Given the description of an element on the screen output the (x, y) to click on. 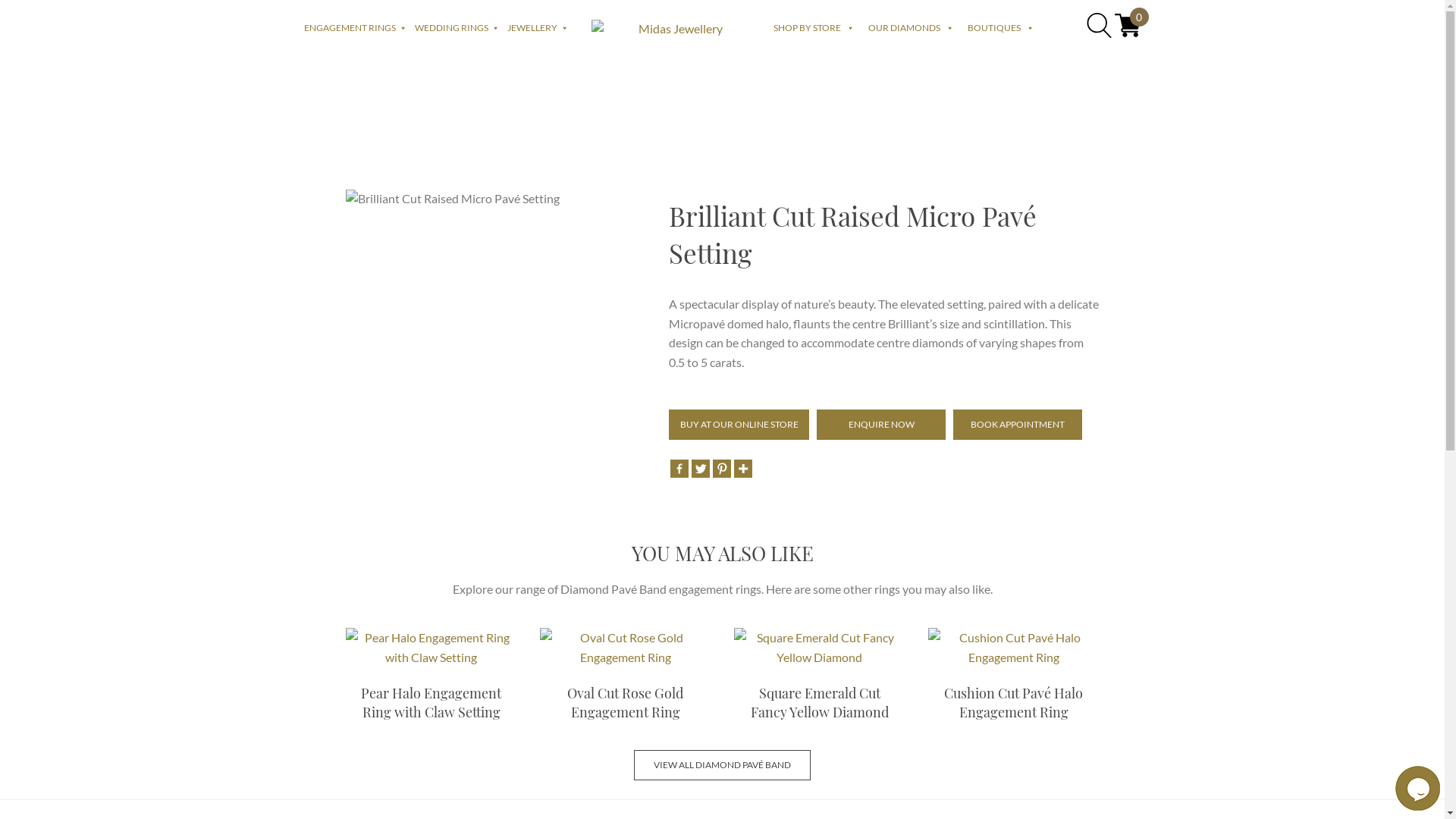
SHOP BY STORE Element type: text (820, 27)
More Element type: hover (743, 468)
Pear Halo Engagement Ring with Claw Setting Element type: hover (431, 646)
WEDDING RINGS Element type: text (460, 27)
OUR DIAMONDS Element type: text (916, 27)
Facebook Element type: hover (679, 468)
ENGAGEMENT RINGS Element type: text (358, 27)
Pinterest Element type: hover (721, 468)
Pear Halo Engagement Ring with Claw Setting Element type: text (431, 678)
Square Emerald Cut Fancy Yellow Diamond Element type: hover (819, 646)
Midas Jewellery Element type: hover (674, 28)
BOUTIQUES Element type: text (1007, 27)
0 Element type: text (1127, 33)
Oval Cut Rose Gold Engagement Ring Element type: hover (625, 646)
BOOK APPOINTMENT Element type: text (1017, 424)
Oval Cut Rose Gold Engagement Ring Element type: text (625, 678)
ENQUIRE NOW Element type: text (880, 424)
Skip to content Element type: text (0, 78)
BUY AT OUR ONLINE STORE Element type: text (738, 424)
JEWELLERY Element type: text (540, 27)
Square Emerald Cut Fancy Yellow Diamond Element type: text (819, 678)
Twitter Element type: hover (700, 468)
